Given the description of an element on the screen output the (x, y) to click on. 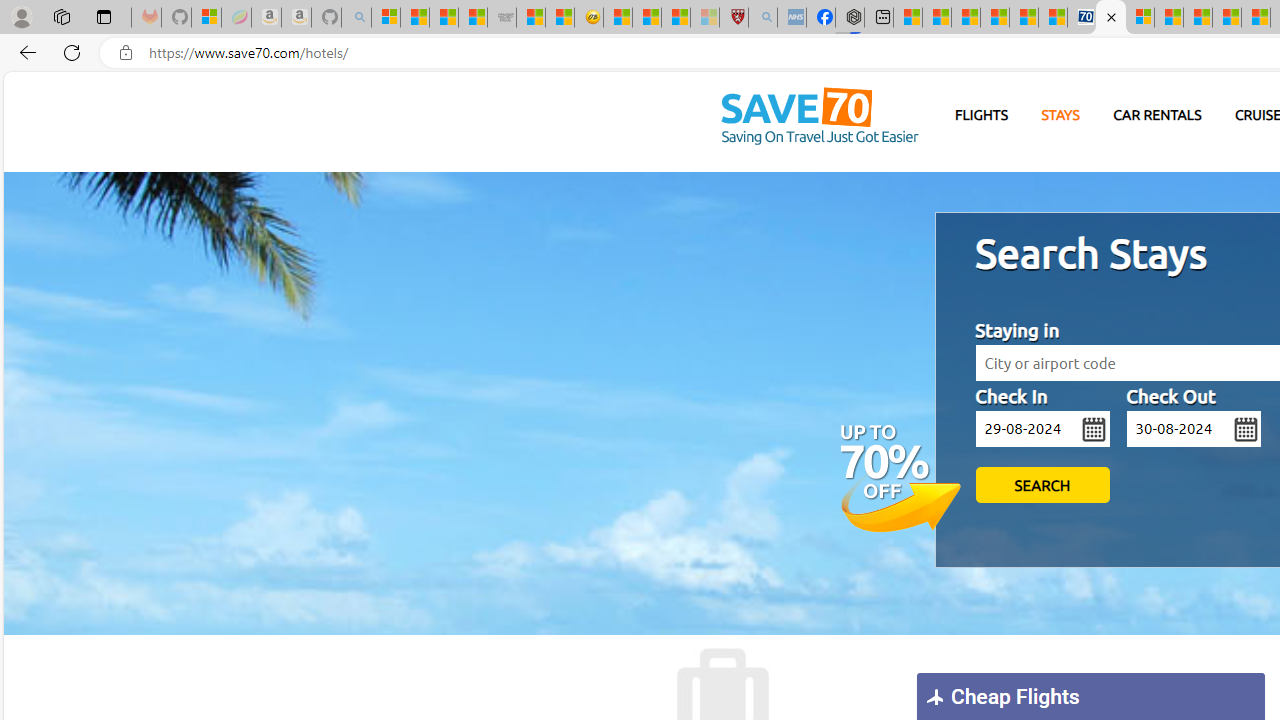
Cheap Hotels - Save70.com (1111, 17)
